Given the description of an element on the screen output the (x, y) to click on. 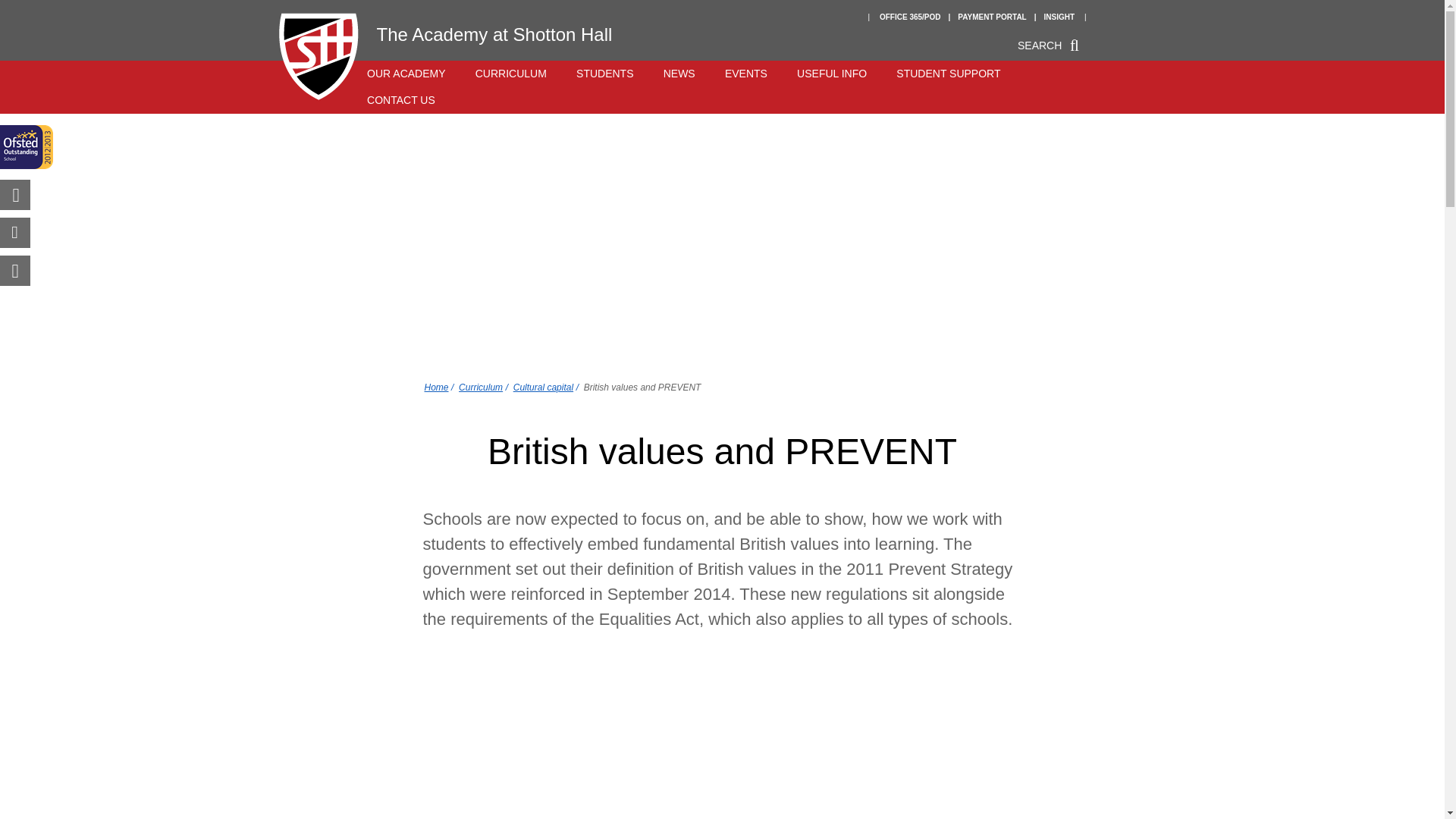
OUR ACADEMY (406, 73)
The Academy at Shotton Hall (484, 33)
PAYMENT PORTAL (992, 17)
SEARCH (1051, 46)
INSIGHT (1059, 17)
Our Academy (406, 73)
